Given the description of an element on the screen output the (x, y) to click on. 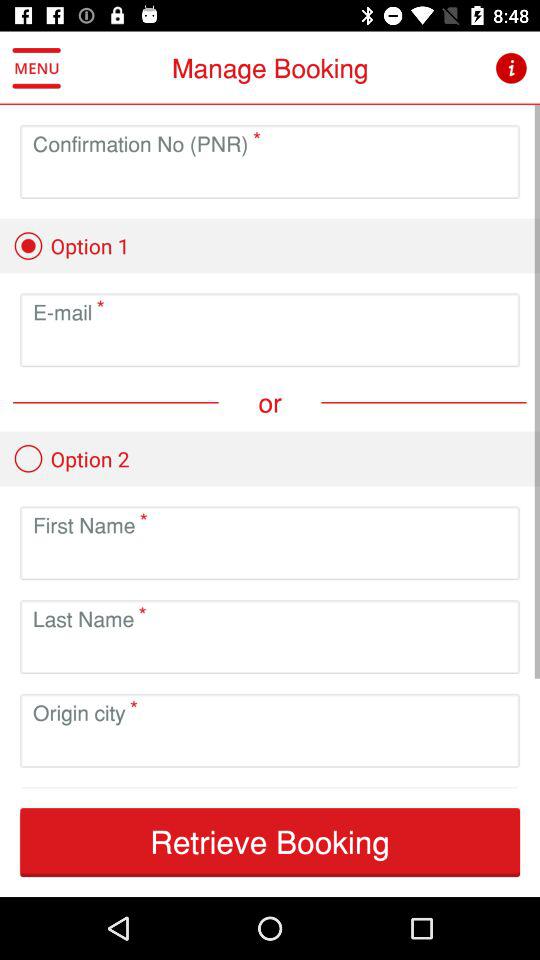
choose the icon next to the manage booking item (36, 68)
